Given the description of an element on the screen output the (x, y) to click on. 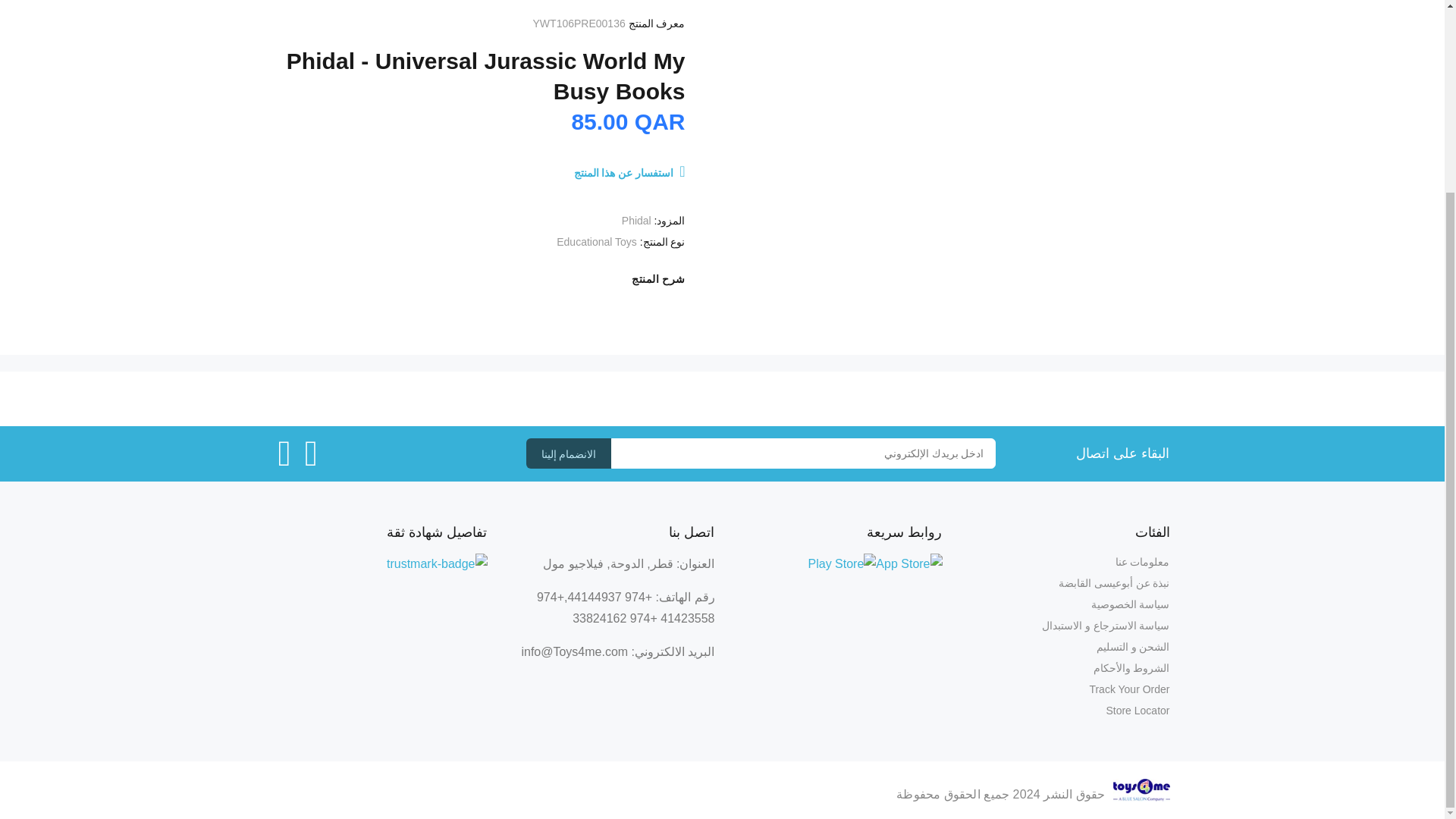
Phidal (635, 220)
